Given the description of an element on the screen output the (x, y) to click on. 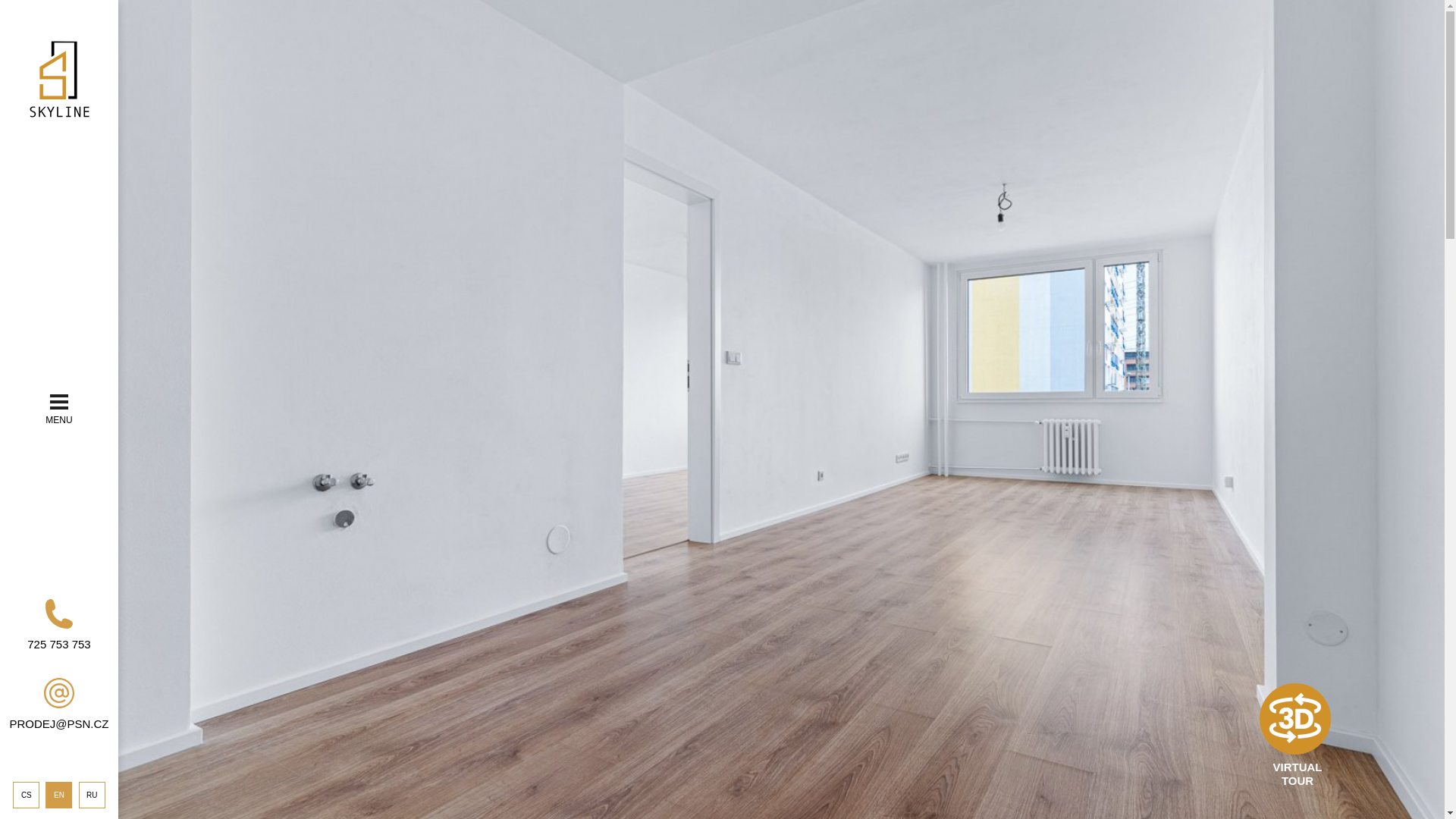
CONTACT (32, 500)
LOCATION (32, 346)
EN (58, 795)
CS (26, 795)
FINANCING (32, 471)
725 753 753 (57, 624)
CONTACT (32, 500)
RENTAL OF UNITS (32, 413)
RU (91, 795)
UNITS OVERVIEW AND PRICELIST (32, 380)
